Given the description of an element on the screen output the (x, y) to click on. 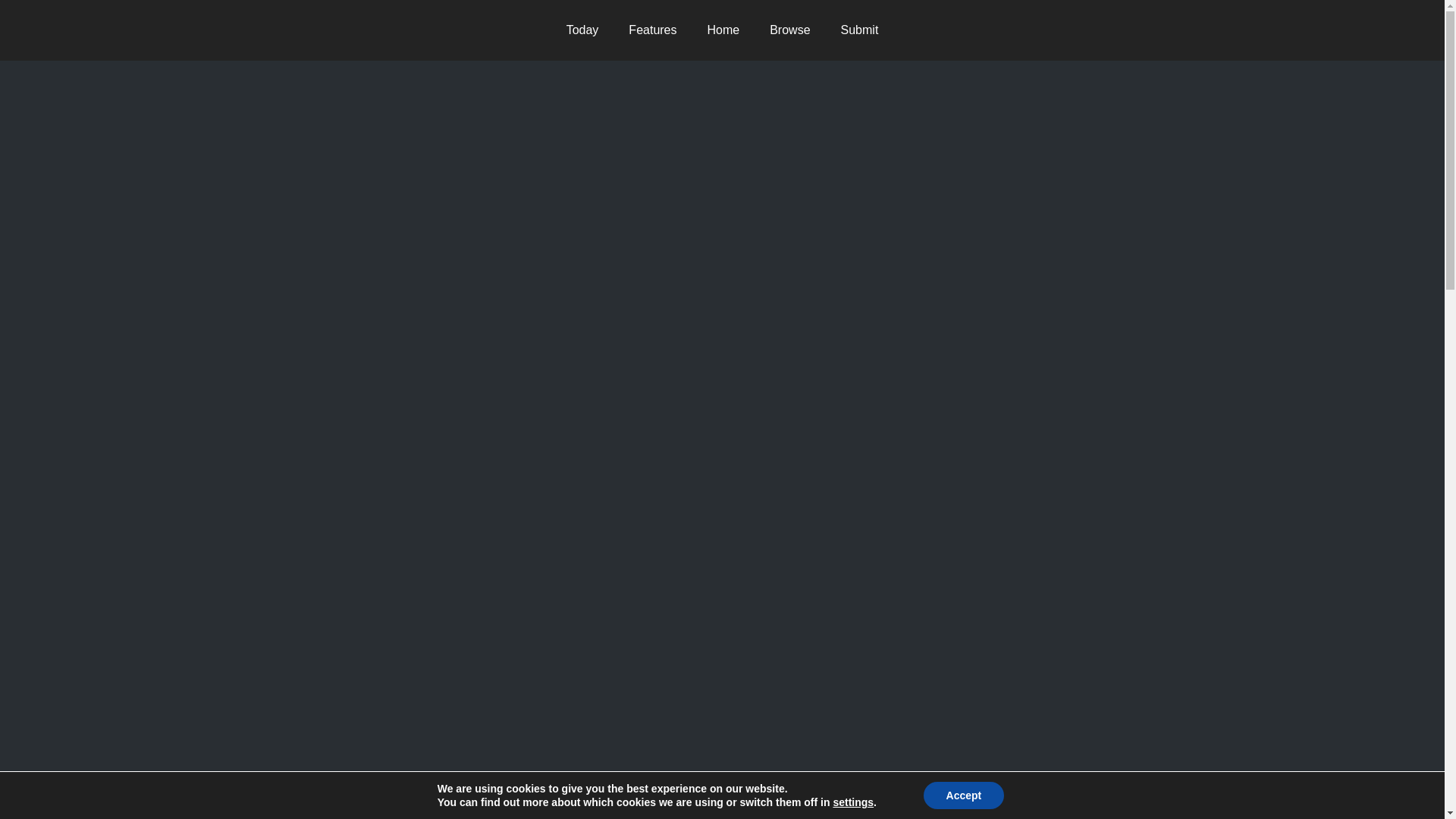
Features (651, 30)
Accept (963, 795)
settings (852, 802)
Uncategorized (413, 133)
Submit a Game (859, 30)
What you can do on the site (651, 30)
Submit (859, 30)
Which Games released today? (582, 30)
Browse (789, 30)
Today (582, 30)
Home (722, 30)
Home (722, 30)
Browse (789, 30)
